Given the description of an element on the screen output the (x, y) to click on. 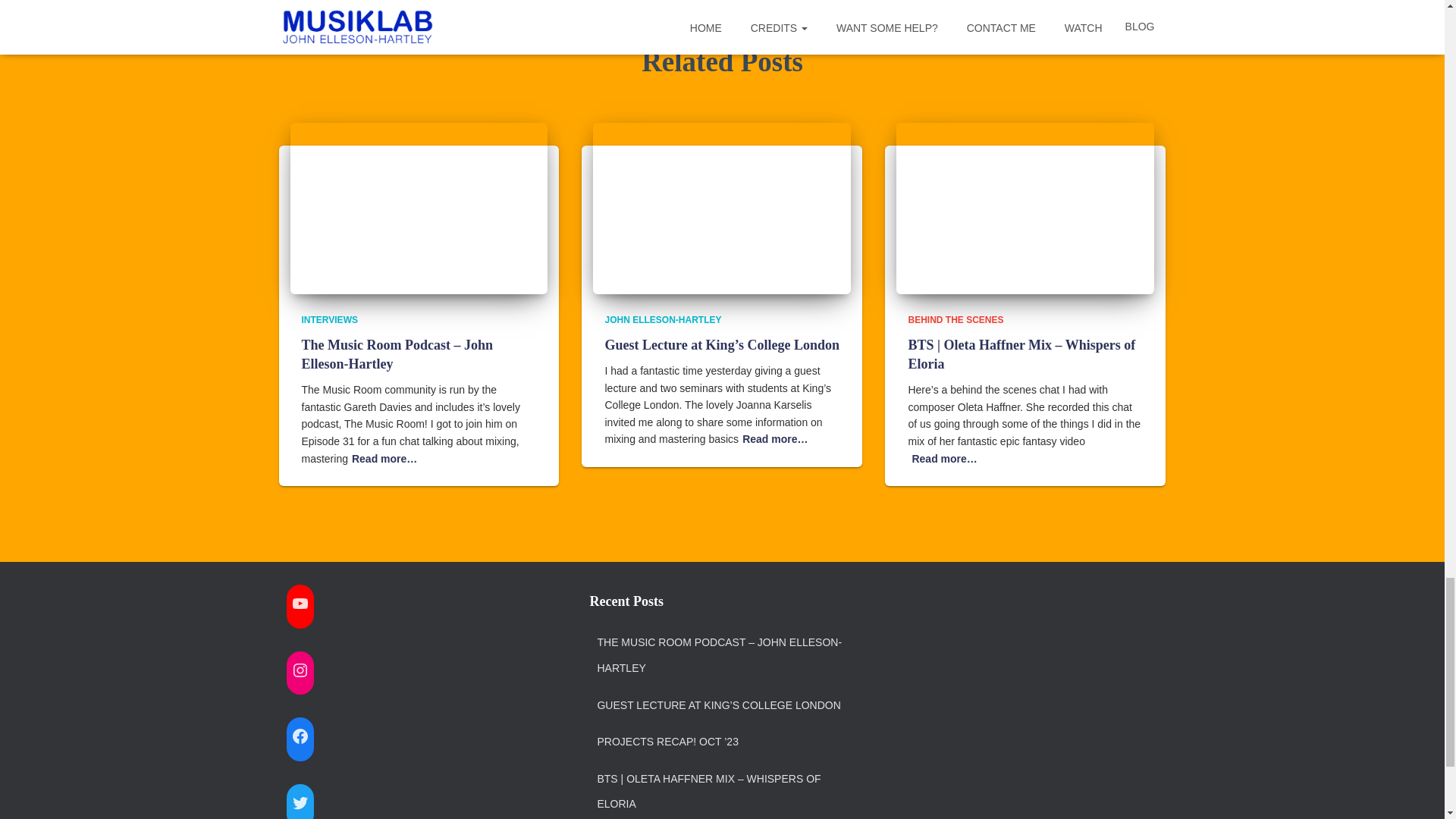
BEHIND THE SCENES (955, 319)
INTERVIEWS (329, 319)
JOHN ELLESON-HARTLEY (662, 319)
